Given the description of an element on the screen output the (x, y) to click on. 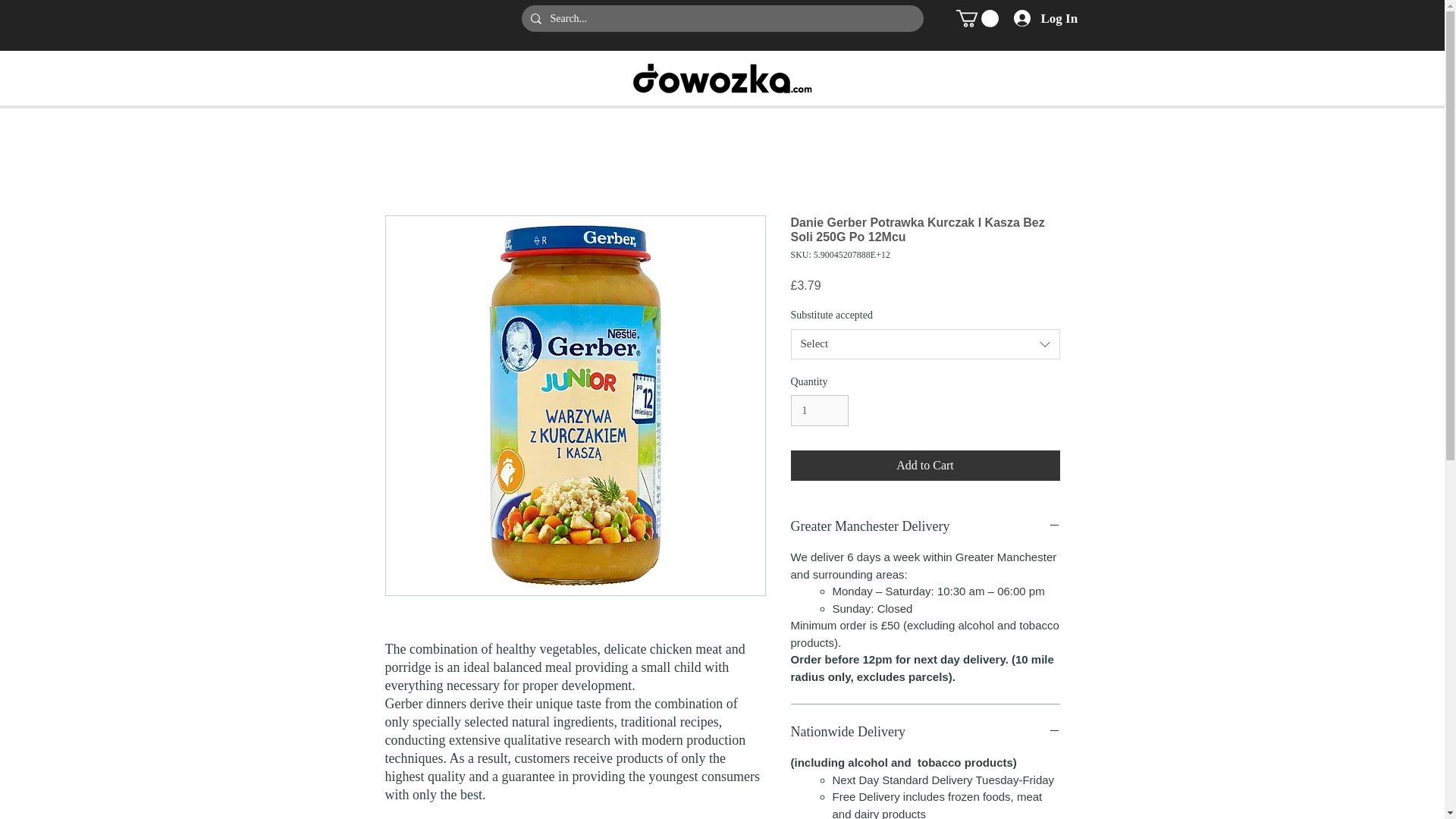
HOME (550, 77)
1 (818, 409)
Nationwide Delivery (924, 732)
Greater Manchester Delivery (924, 526)
Select (924, 344)
DELIVERY TIMES (872, 77)
CONTACT (962, 77)
SHOP (600, 77)
Log In (1038, 18)
Add to Cart (924, 465)
